Given the description of an element on the screen output the (x, y) to click on. 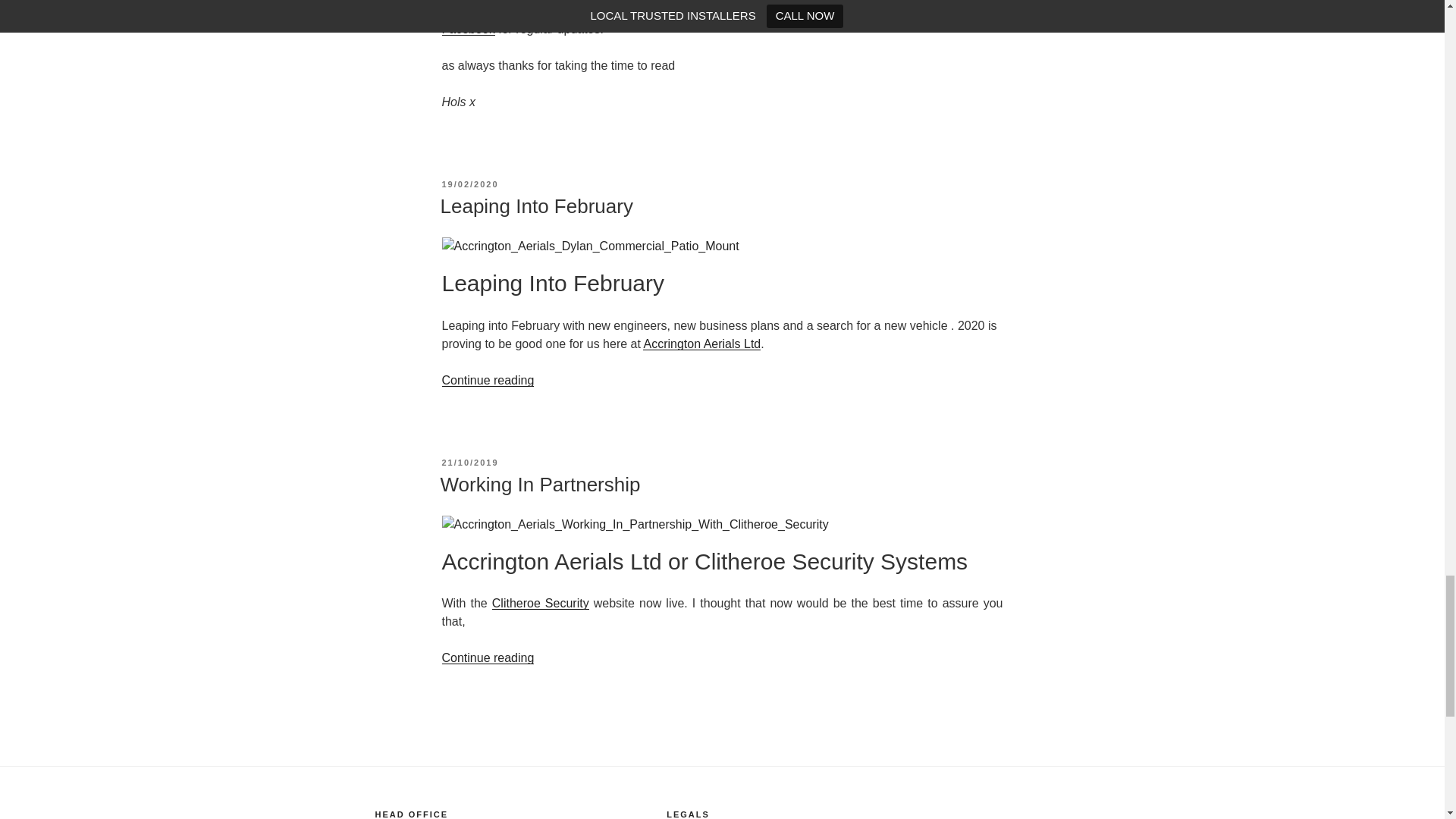
Facebook (468, 29)
Working In Partnership (539, 484)
Accrington Aerials Ltd (701, 343)
Leaping Into February (535, 205)
